Given the description of an element on the screen output the (x, y) to click on. 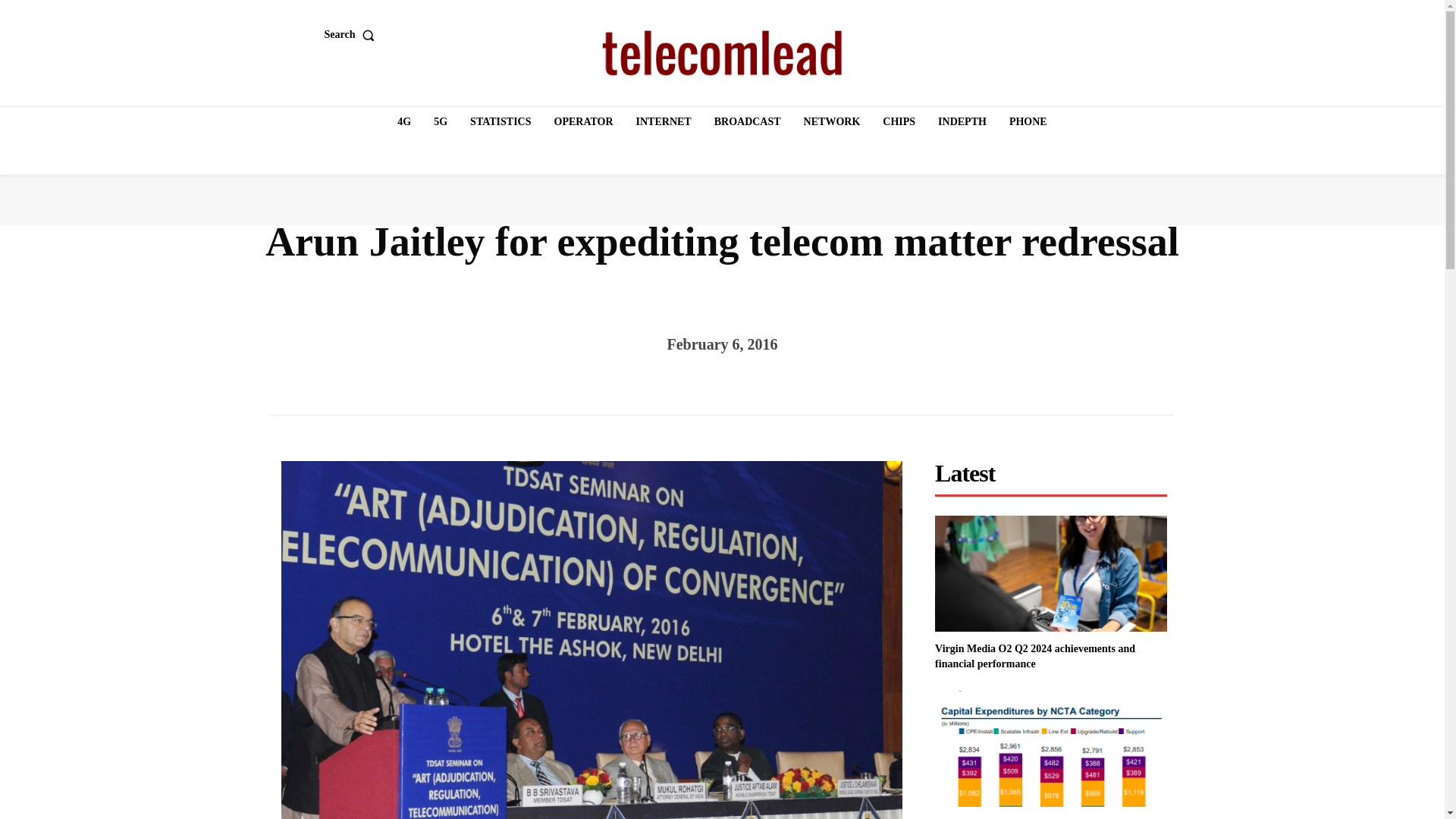
5G (440, 122)
INDEPTH (962, 122)
INTERNET (663, 122)
PHONE (1027, 122)
Search (352, 34)
tl (722, 53)
Charter reports second quarter 2024 achievements (1050, 748)
NETWORK (831, 122)
CHIPS (899, 122)
OPERATOR (584, 122)
BROADCAST (747, 122)
STATISTICS (500, 122)
